Given the description of an element on the screen output the (x, y) to click on. 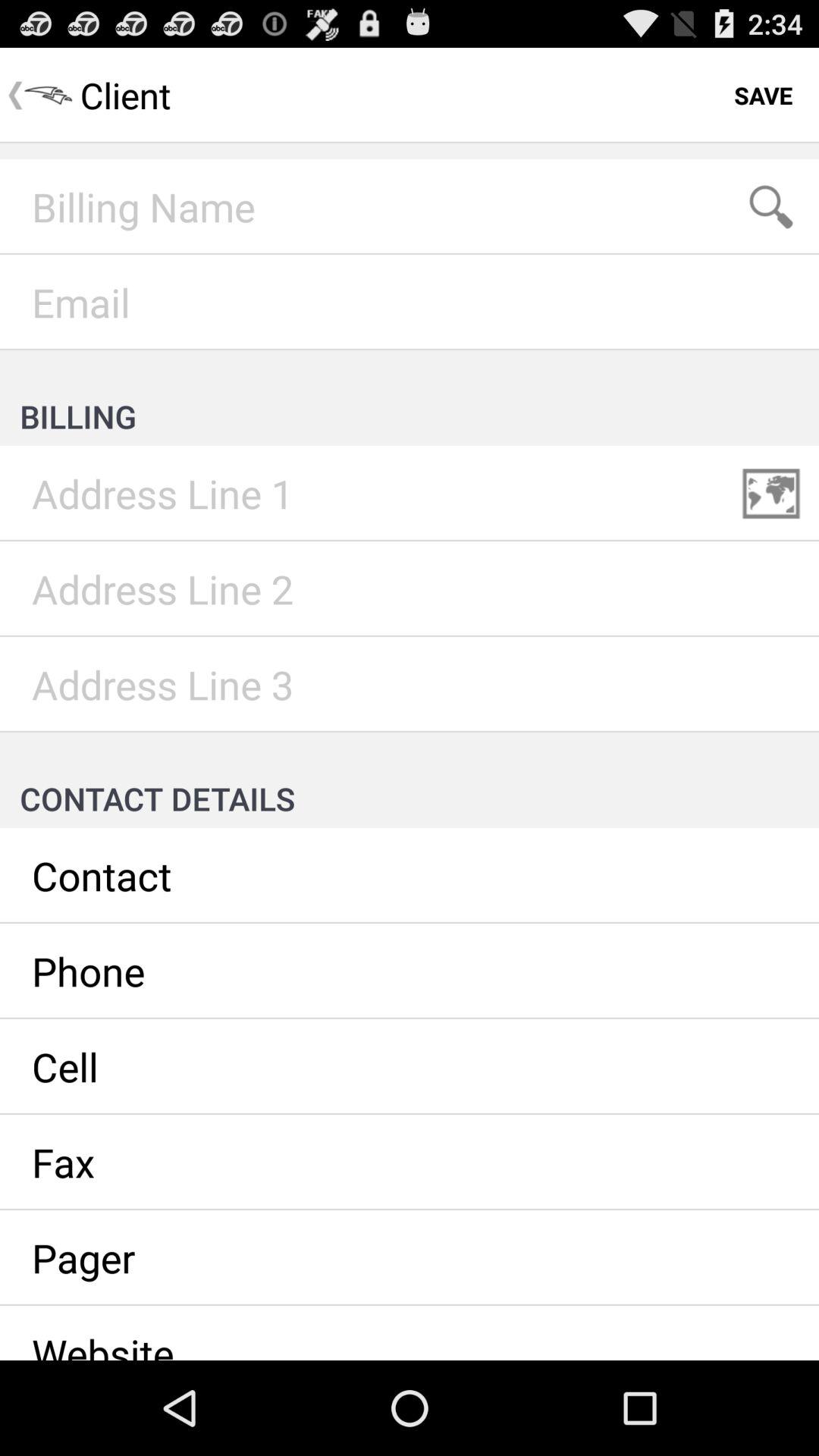
click to search (771, 206)
